Given the description of an element on the screen output the (x, y) to click on. 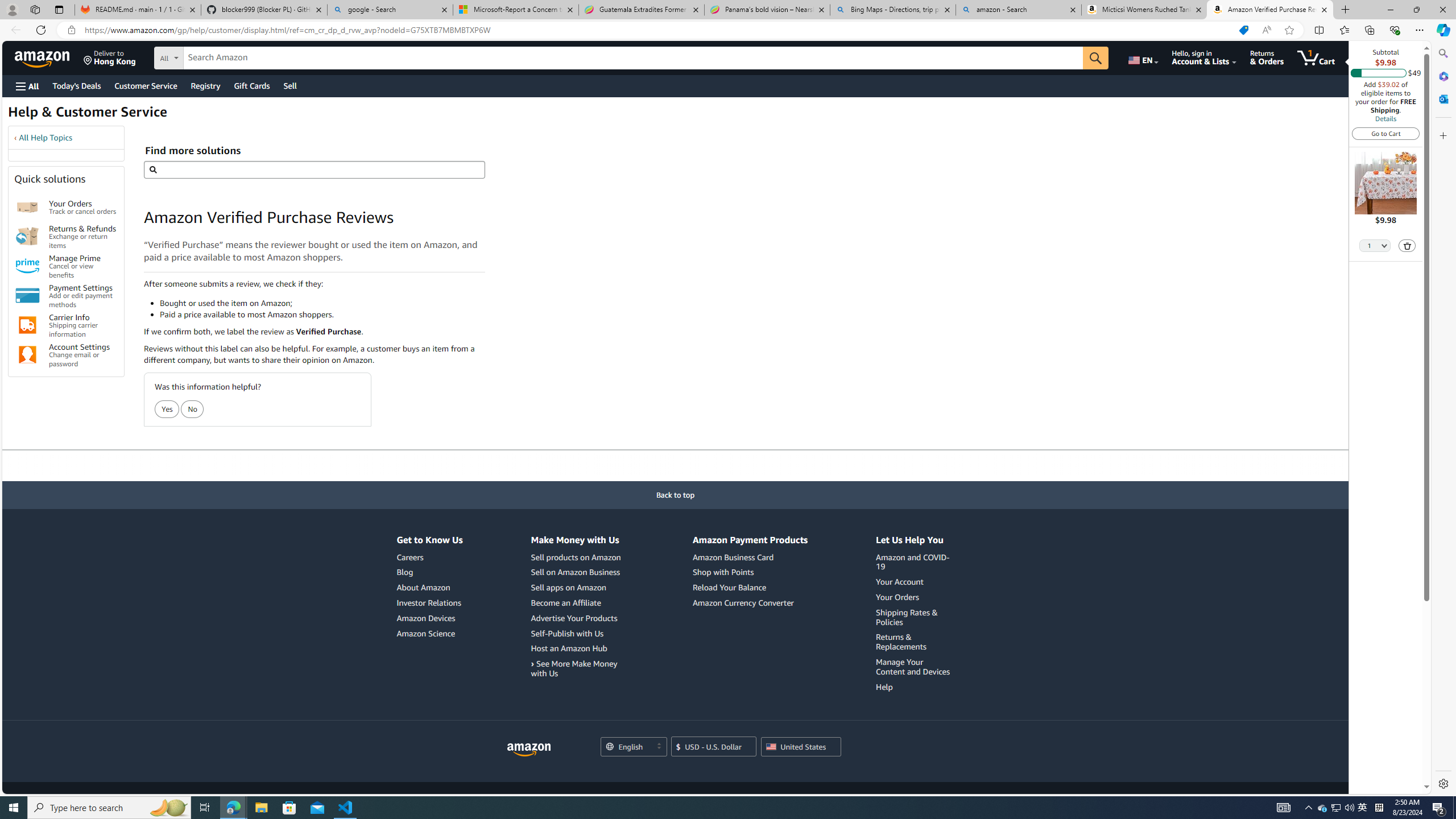
Find more solutions (314, 169)
Investor Relations (429, 602)
Shop with Points (722, 572)
Amazon (43, 57)
Carrier Info (27, 325)
Sell on Amazon Business (576, 572)
amazon - Search (1018, 9)
Amazon and COVID-19 (914, 562)
No (192, 408)
